Given the description of an element on the screen output the (x, y) to click on. 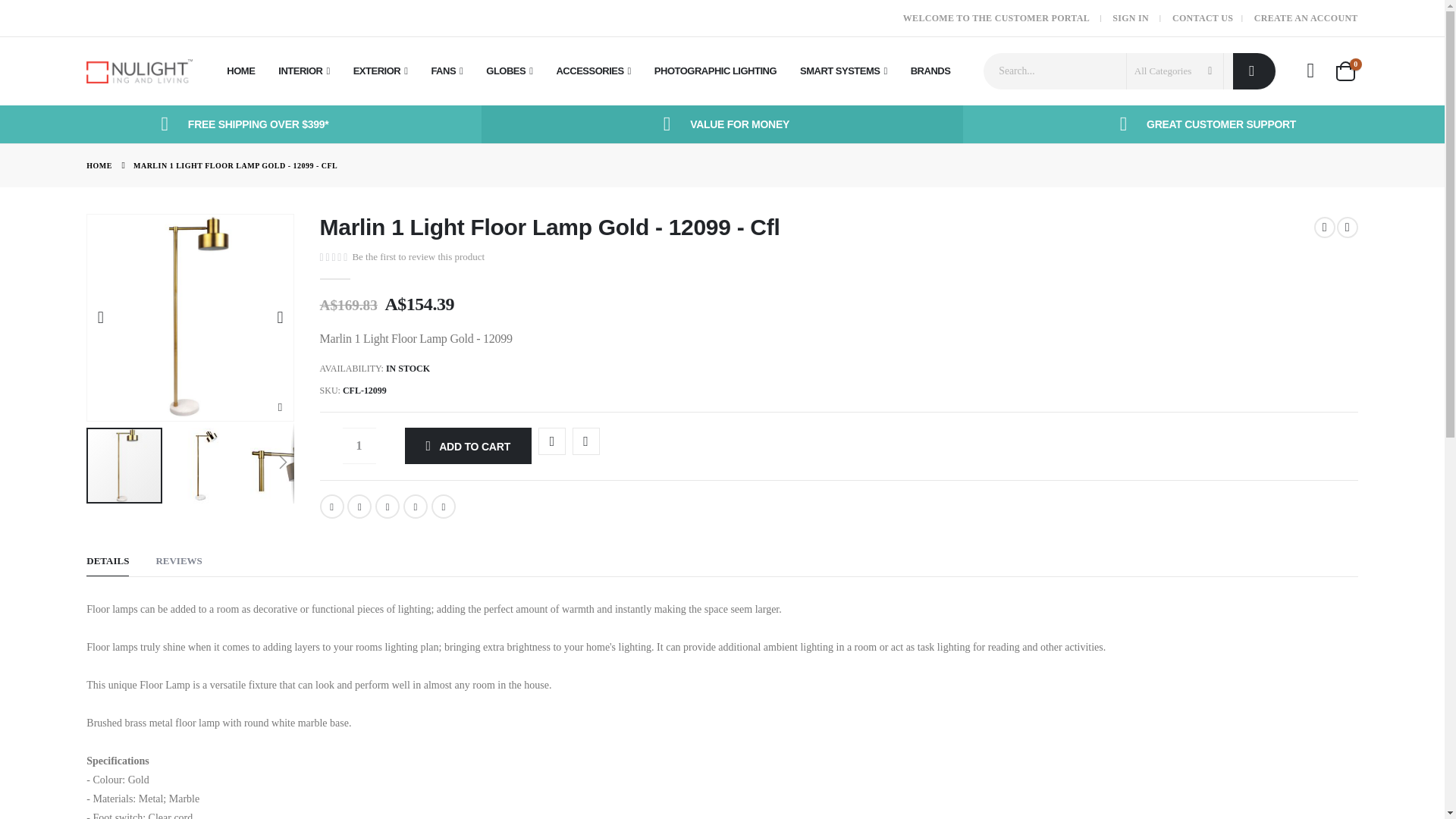
SIGN IN (1130, 17)
1 (358, 445)
CONTACT US (1202, 17)
Interior (303, 70)
CREATE AN ACCOUNT (1305, 17)
INTERIOR (303, 70)
